Given the description of an element on the screen output the (x, y) to click on. 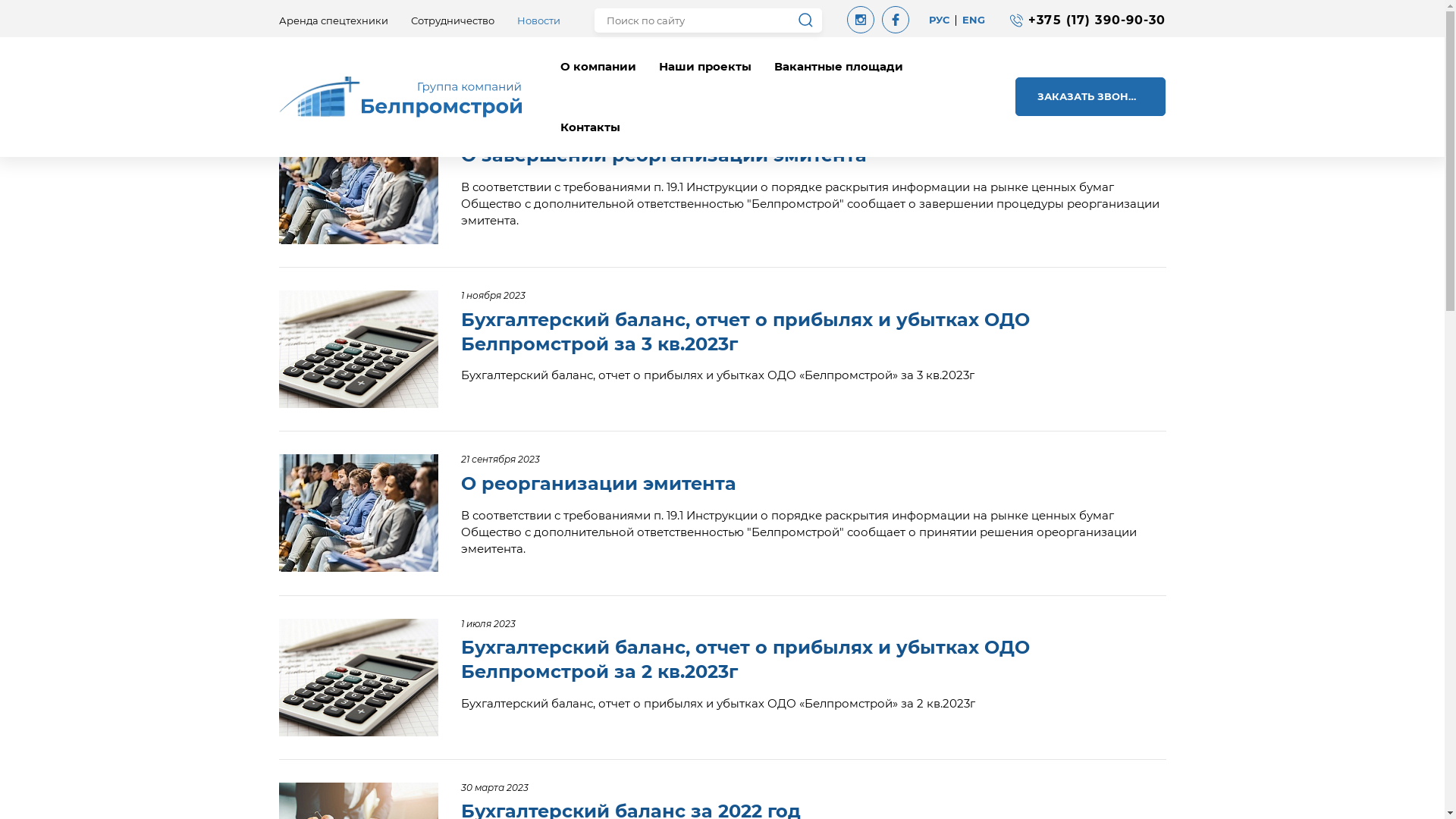
+375 (17) 390-90-30 Element type: text (1096, 19)
